Given the description of an element on the screen output the (x, y) to click on. 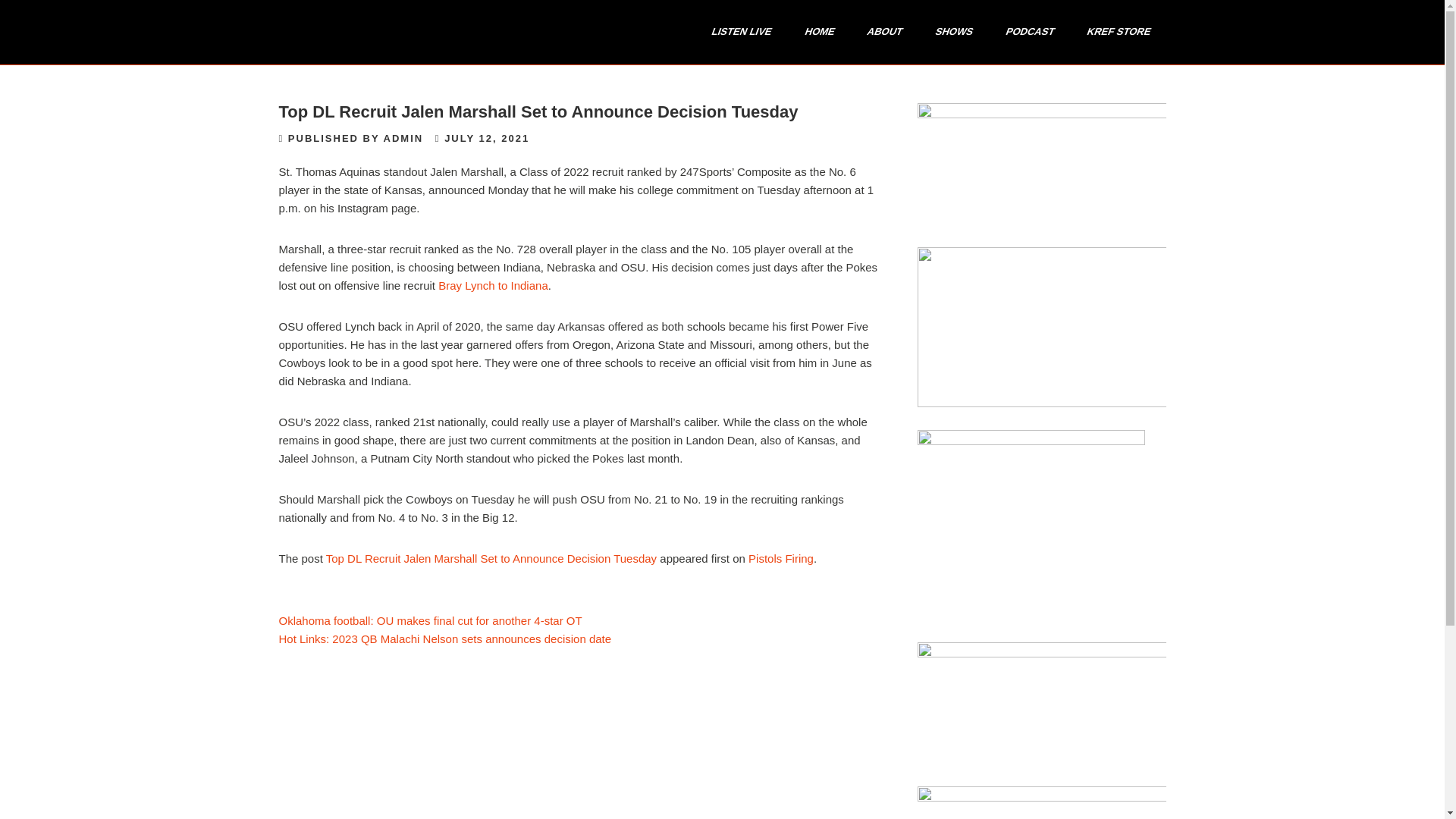
Bray Lynch to Indiana (493, 285)
HOME (814, 31)
PODCAST (1024, 31)
Pistols Firing (780, 558)
Oklahoma football: OU makes final cut for another 4-star OT (430, 620)
SHOWS (947, 31)
ABOUT (878, 31)
LISTEN LIVE (735, 31)
KREF STORE (1112, 31)
